Given the description of an element on the screen output the (x, y) to click on. 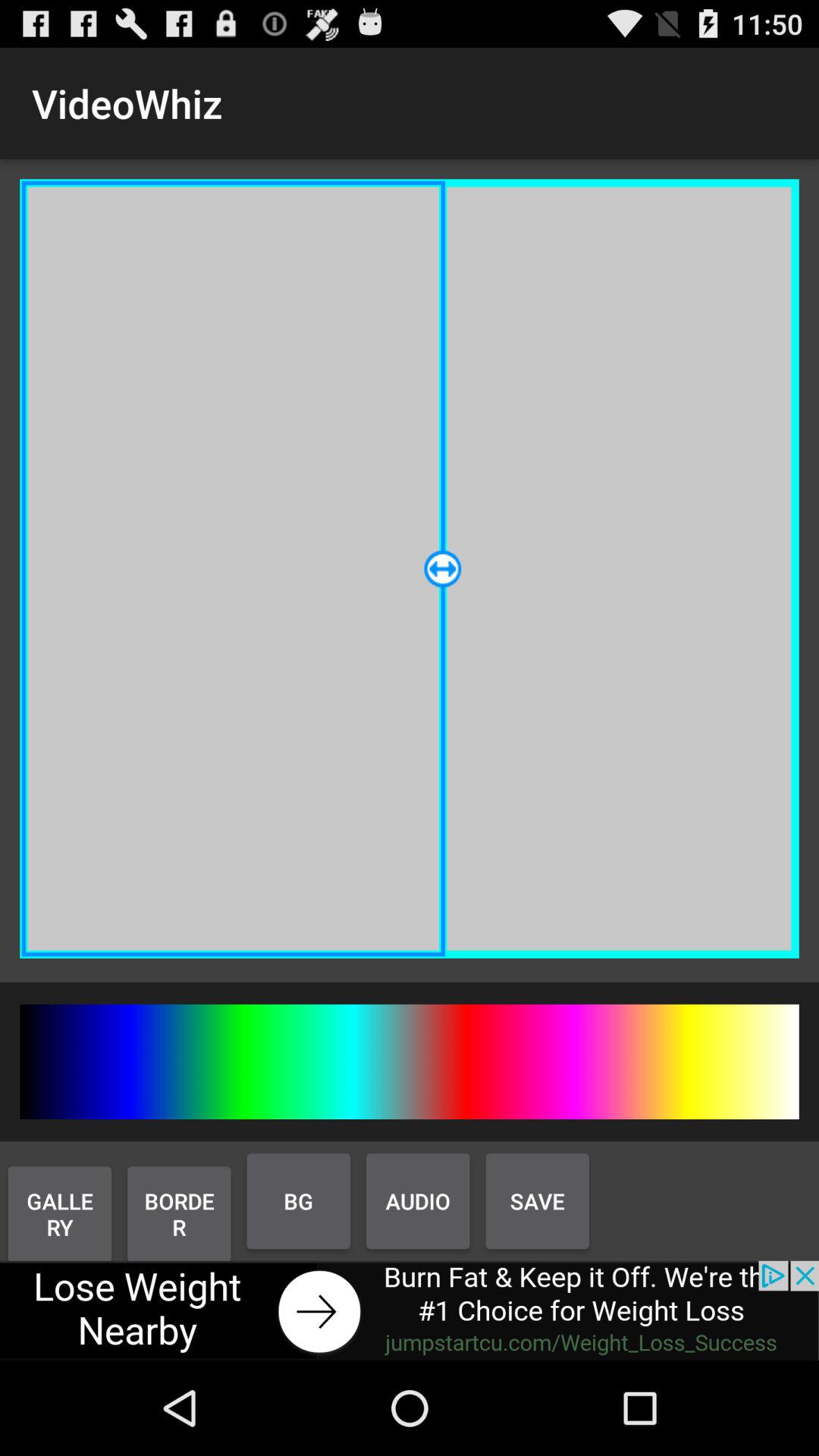
see advertisement (409, 1310)
